Given the description of an element on the screen output the (x, y) to click on. 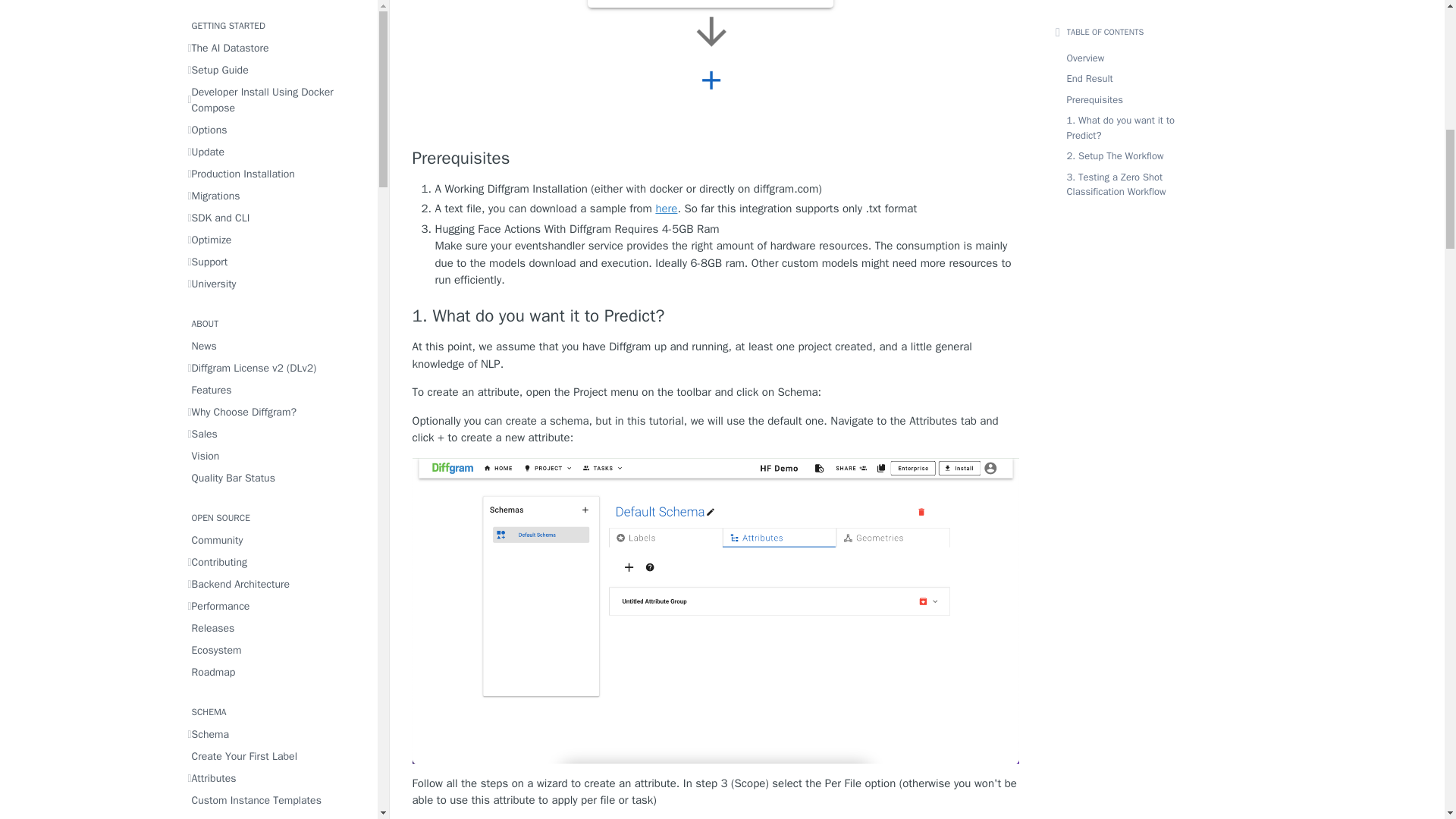
Prerequisites (715, 158)
task workflow zoom in resized.PNG (715, 65)
1. What do you want it to Predict? (715, 315)
